Given the description of an element on the screen output the (x, y) to click on. 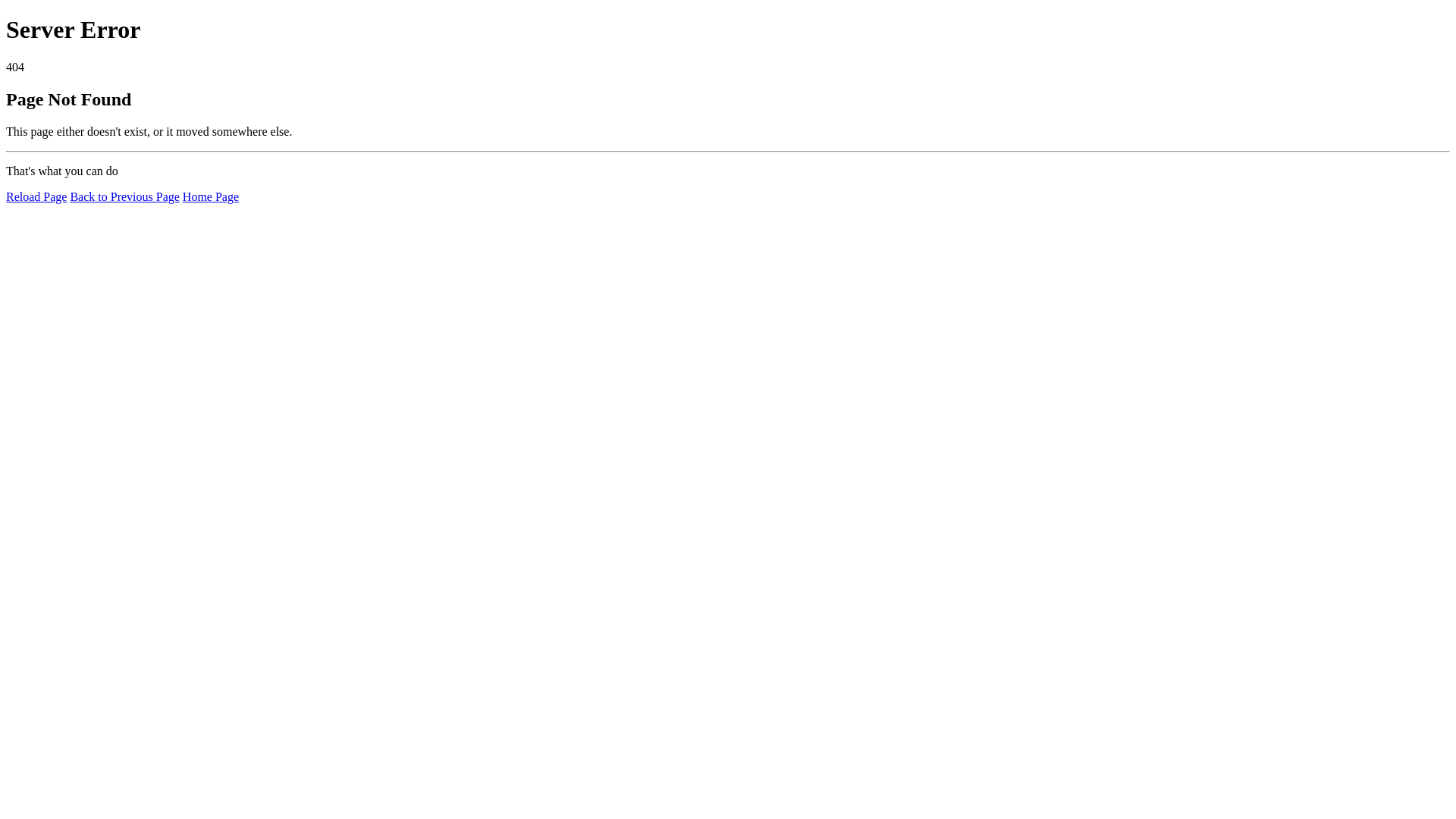
Reload Page Element type: text (36, 196)
Back to Previous Page Element type: text (123, 196)
Home Page Element type: text (210, 196)
